Given the description of an element on the screen output the (x, y) to click on. 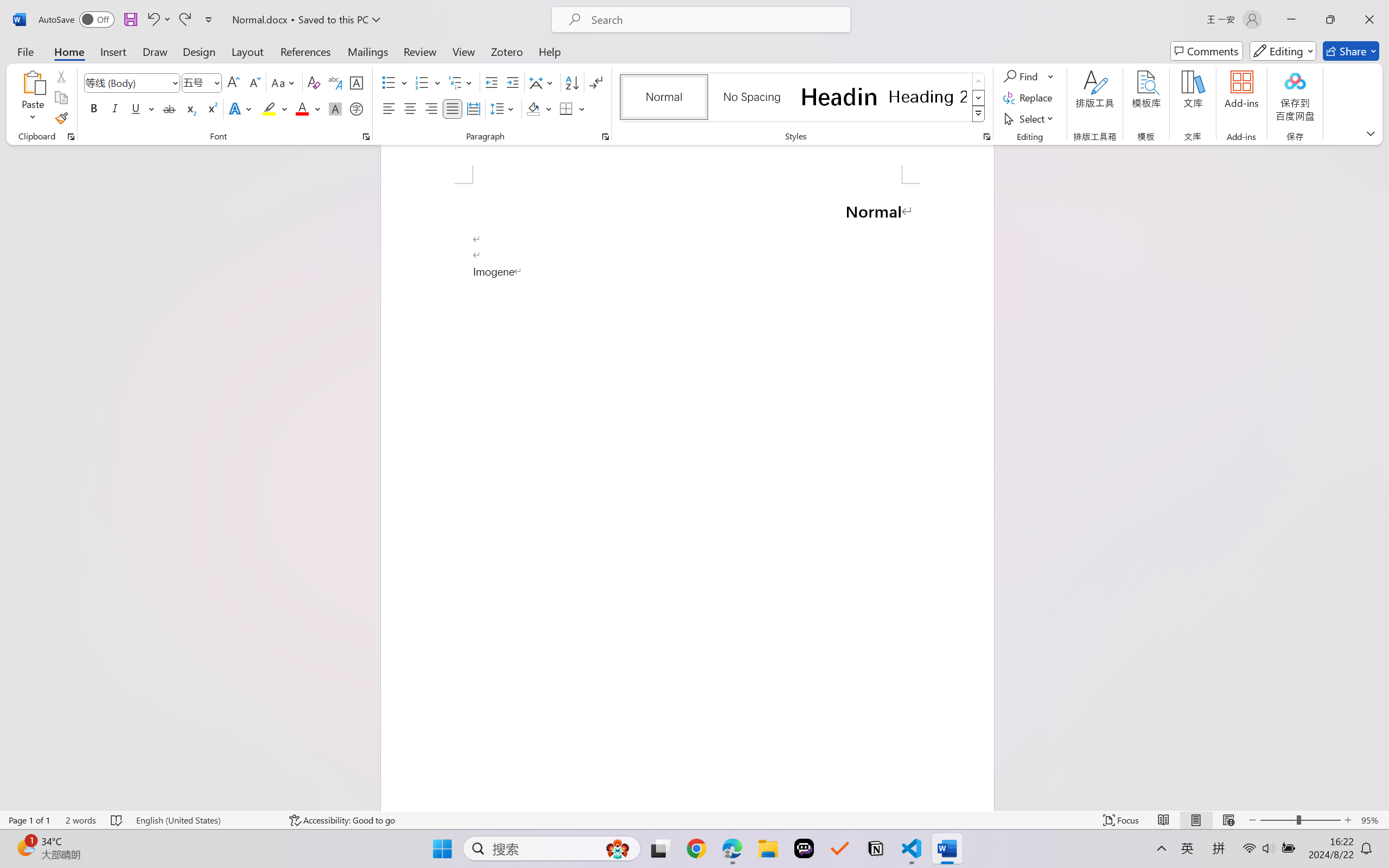
Paragraph... (605, 136)
Undo Typing (152, 19)
Select (1030, 118)
Undo Typing (158, 19)
Italic (115, 108)
Text Highlight Color (274, 108)
Page 1 content (687, 497)
Phonetic Guide... (334, 82)
Replace... (1029, 97)
Heading 2 (927, 96)
Change Case (284, 82)
